Given the description of an element on the screen output the (x, y) to click on. 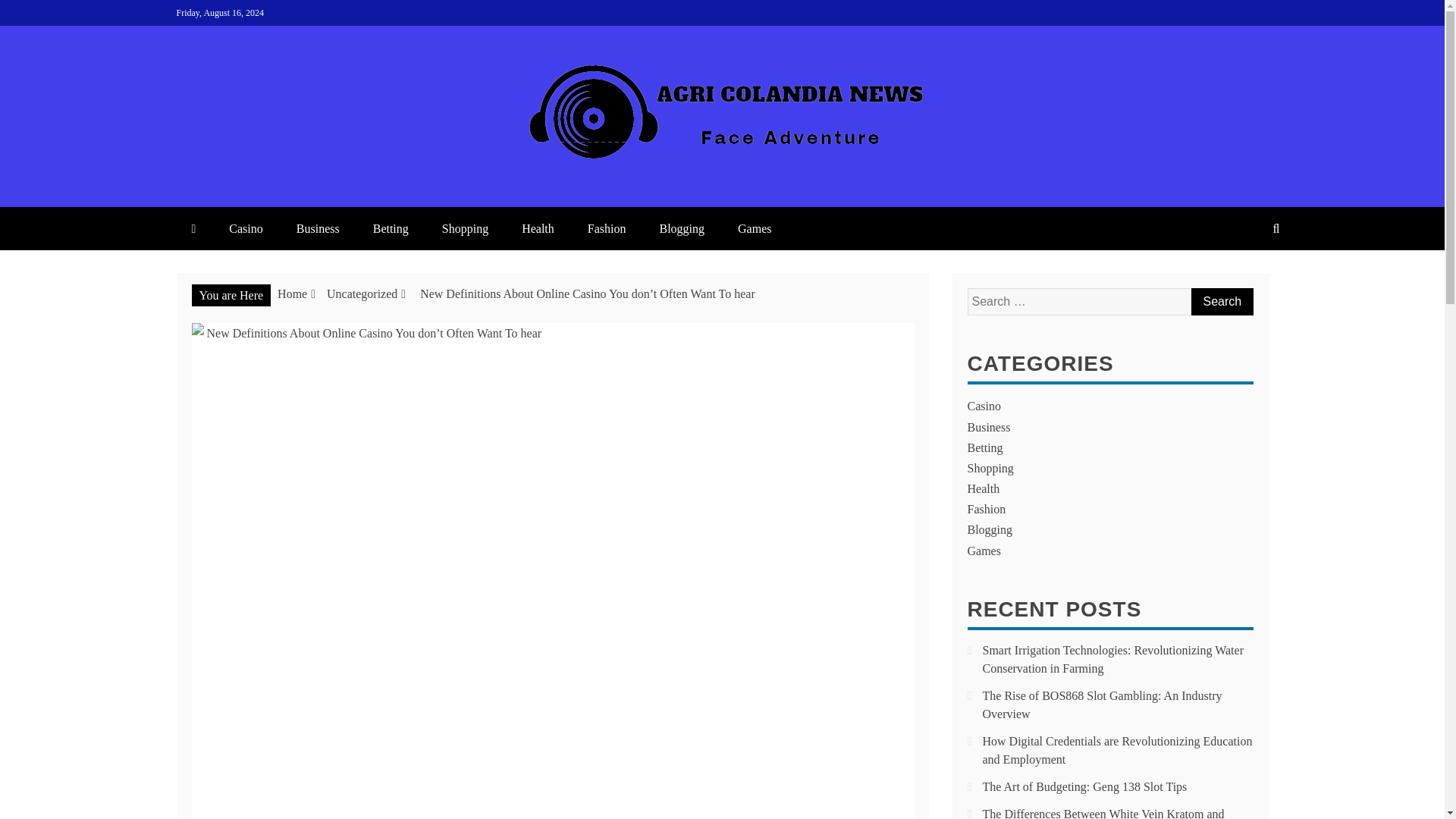
AGRI COLANDIA NEWS (396, 191)
Home (292, 293)
Games (754, 228)
Search (1221, 301)
Uncategorized (361, 293)
Business (318, 228)
Search (1221, 301)
Betting (390, 228)
Blogging (681, 228)
Search (1221, 301)
